Given the description of an element on the screen output the (x, y) to click on. 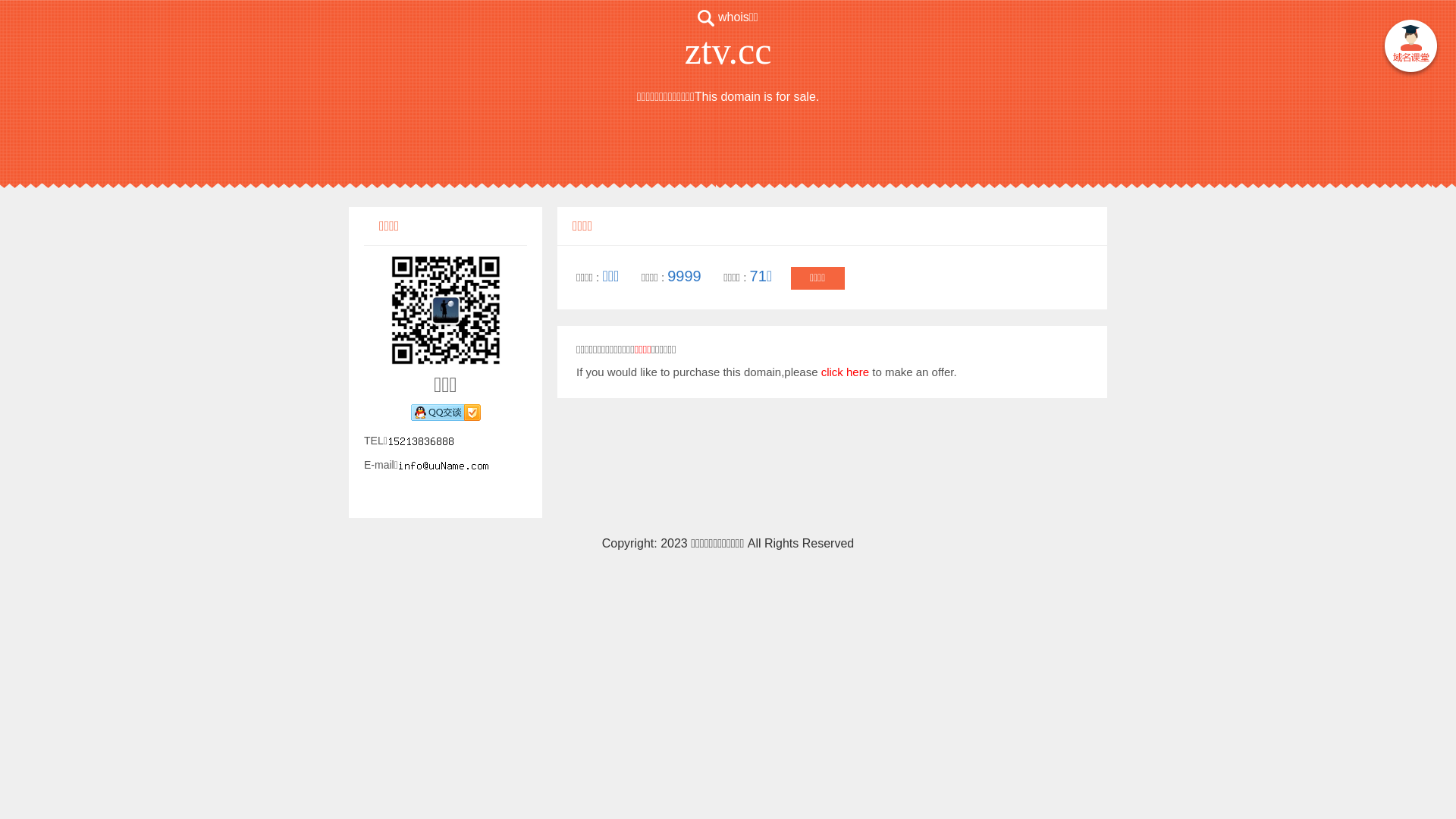
  Element type: text (1410, 48)
click here Element type: text (845, 371)
